Given the description of an element on the screen output the (x, y) to click on. 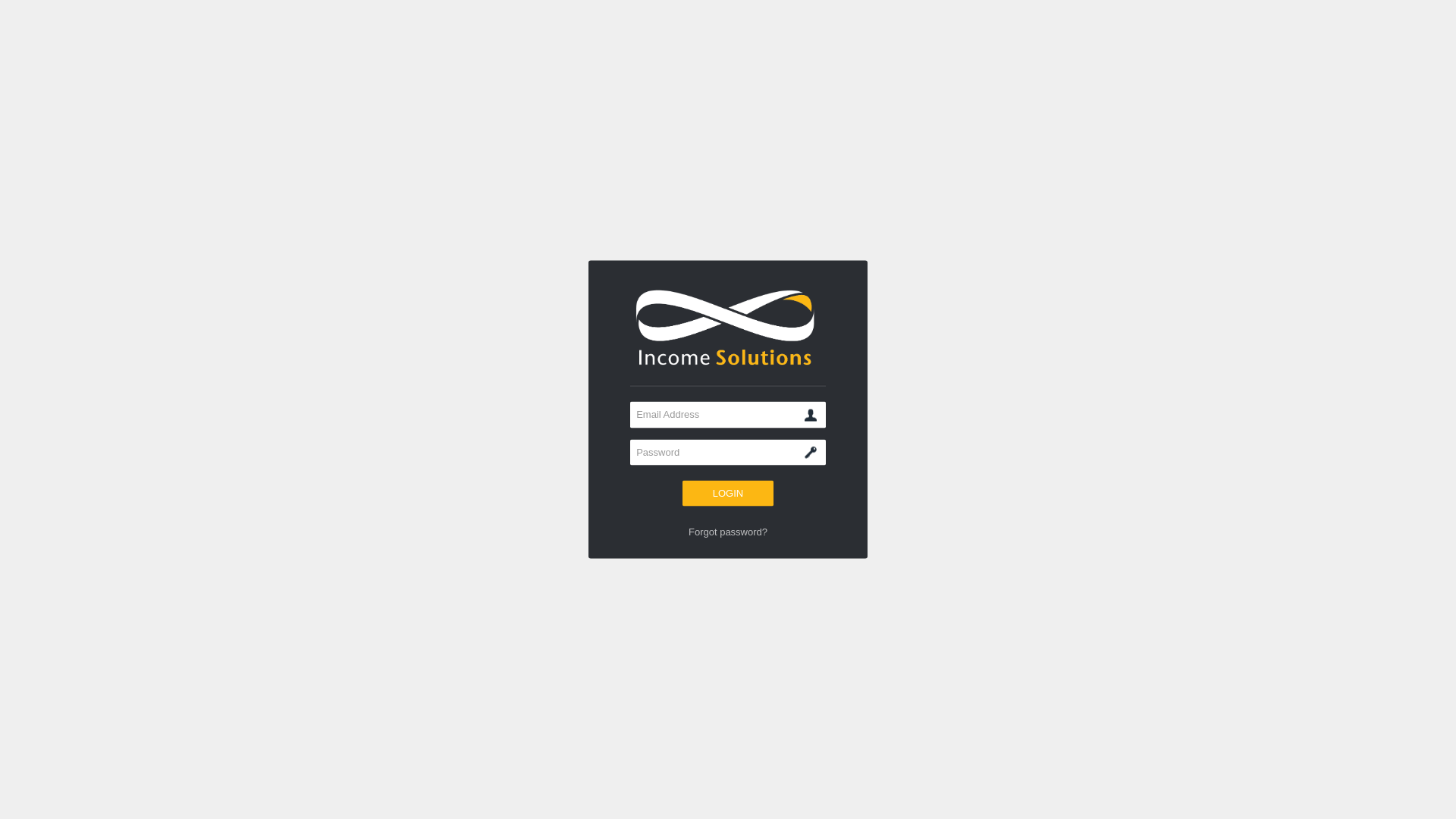
Forgot password? Element type: text (727, 532)
Login Element type: text (727, 493)
Incomesolutions Element type: hover (727, 326)
